Given the description of an element on the screen output the (x, y) to click on. 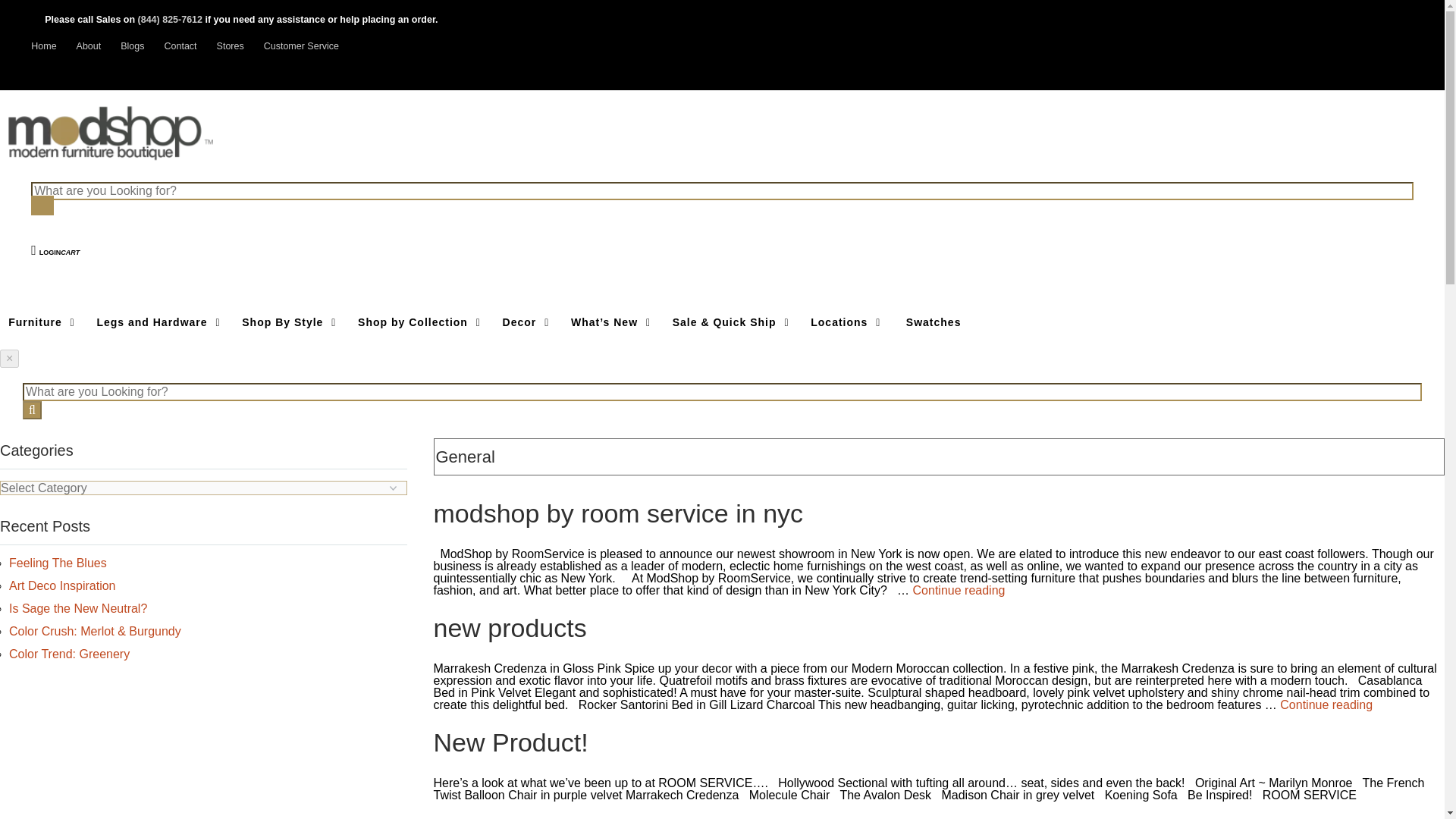
Contact (179, 45)
About (89, 45)
Stores (230, 45)
Customer Service (301, 45)
Home (43, 45)
Blogs (132, 45)
